Given the description of an element on the screen output the (x, y) to click on. 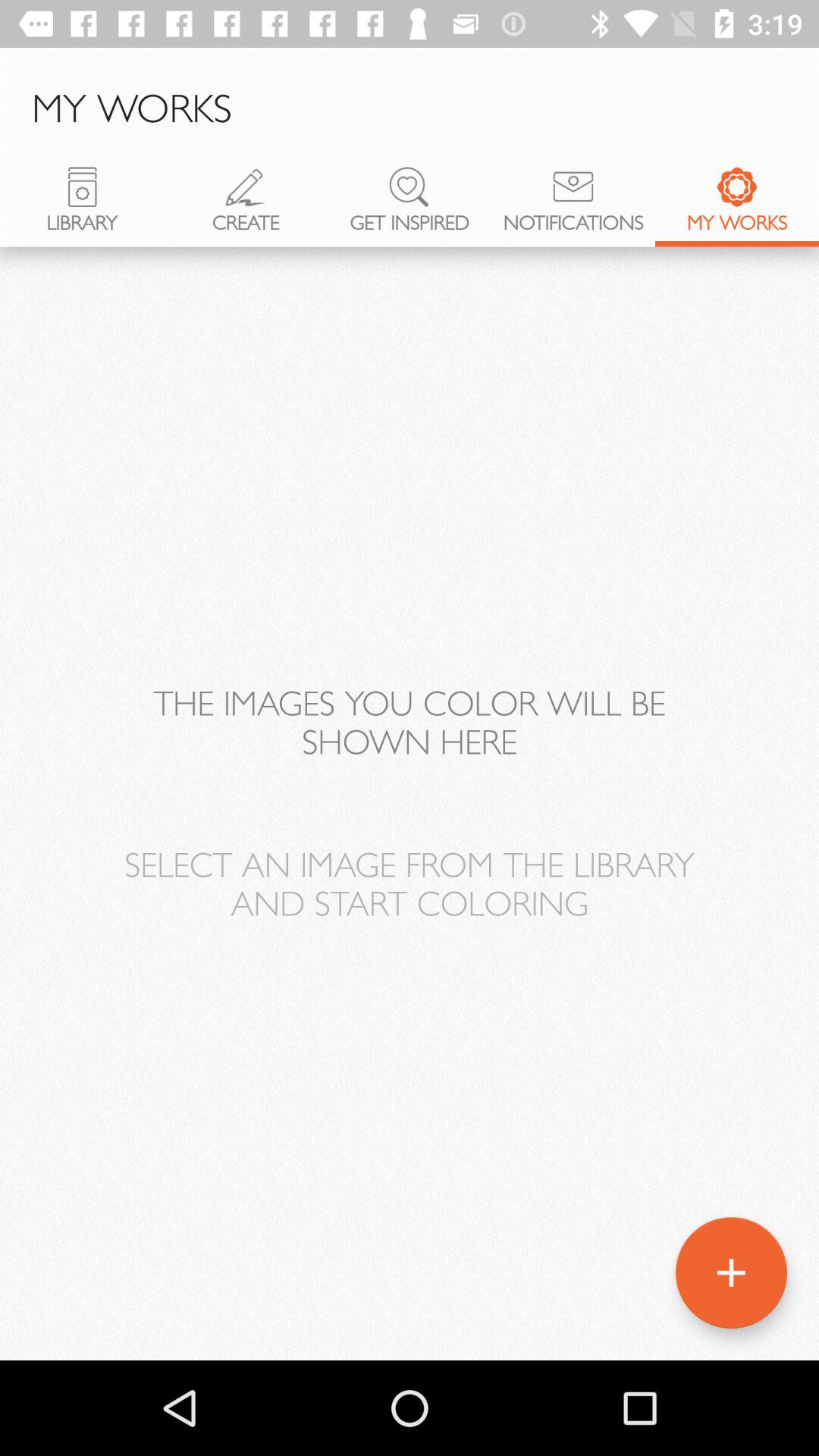
open the icon at the bottom right corner (731, 1272)
